Given the description of an element on the screen output the (x, y) to click on. 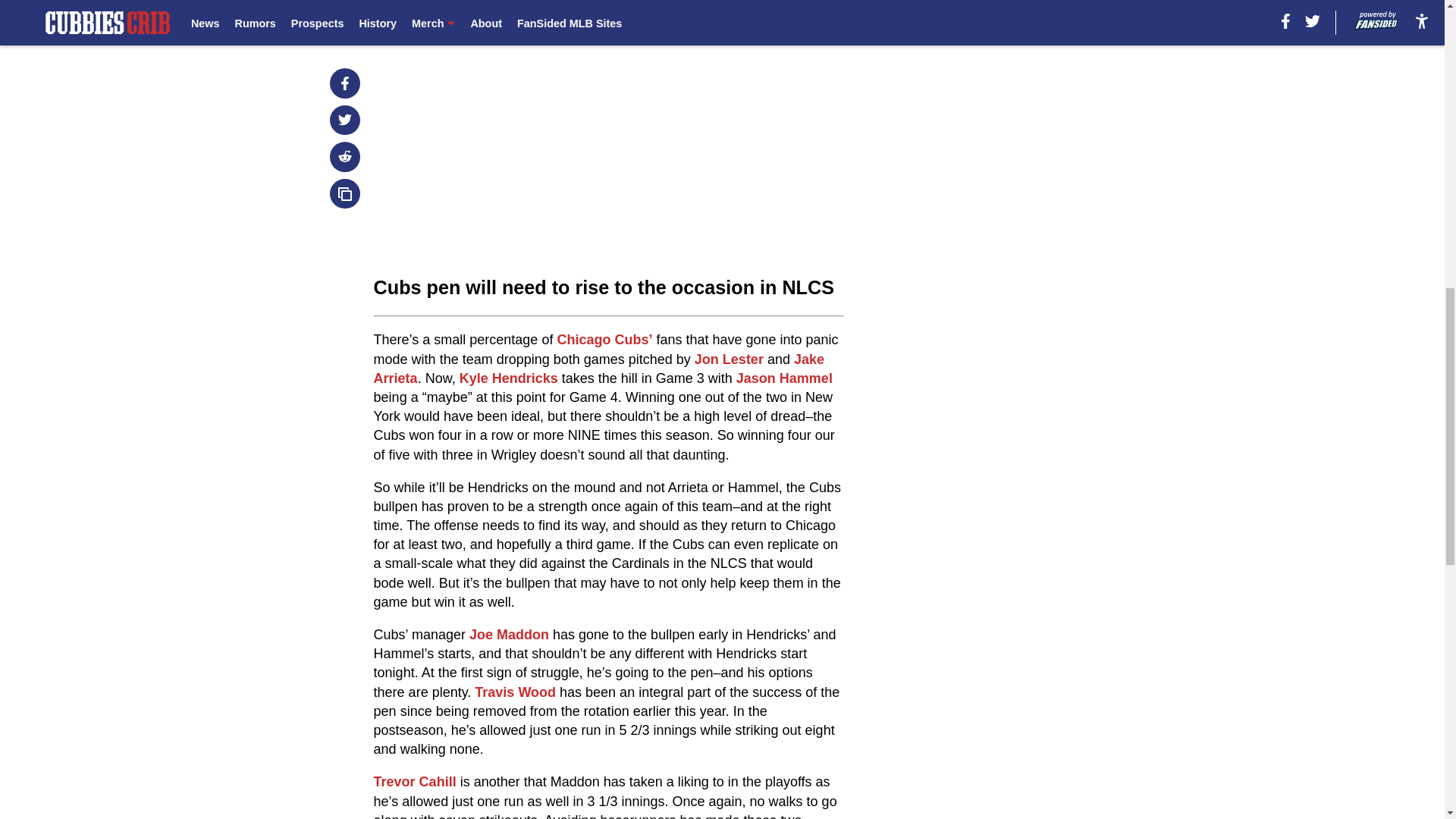
Trevor Cahill (415, 781)
Travis Wood (515, 692)
Jon Lester (728, 359)
Joe Maddon (508, 634)
Kyle Hendricks (508, 378)
Jake Arrieta (599, 368)
Jason Hammel (784, 378)
